Given the description of an element on the screen output the (x, y) to click on. 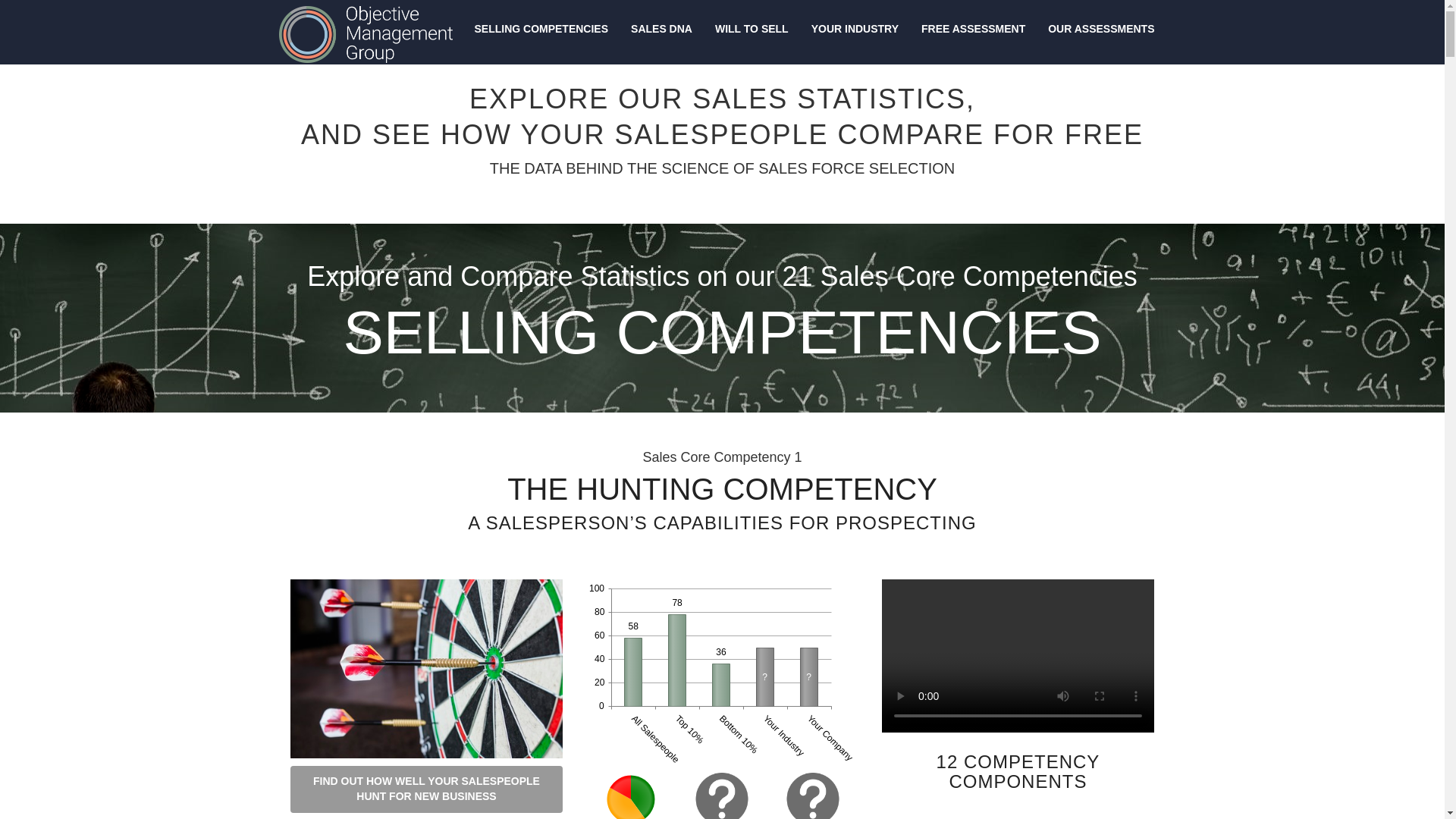
OUR ASSESSMENTS (1101, 28)
SELLING COMPETENCIES (541, 28)
FIND OUT HOW WELL YOUR SALESPEOPLE HUNT FOR NEW BUSINESS (423, 789)
SALES DNA (661, 28)
FREE ASSESSMENT (973, 28)
WILL TO SELL (751, 28)
YOUR INDUSTRY (854, 28)
